Given the description of an element on the screen output the (x, y) to click on. 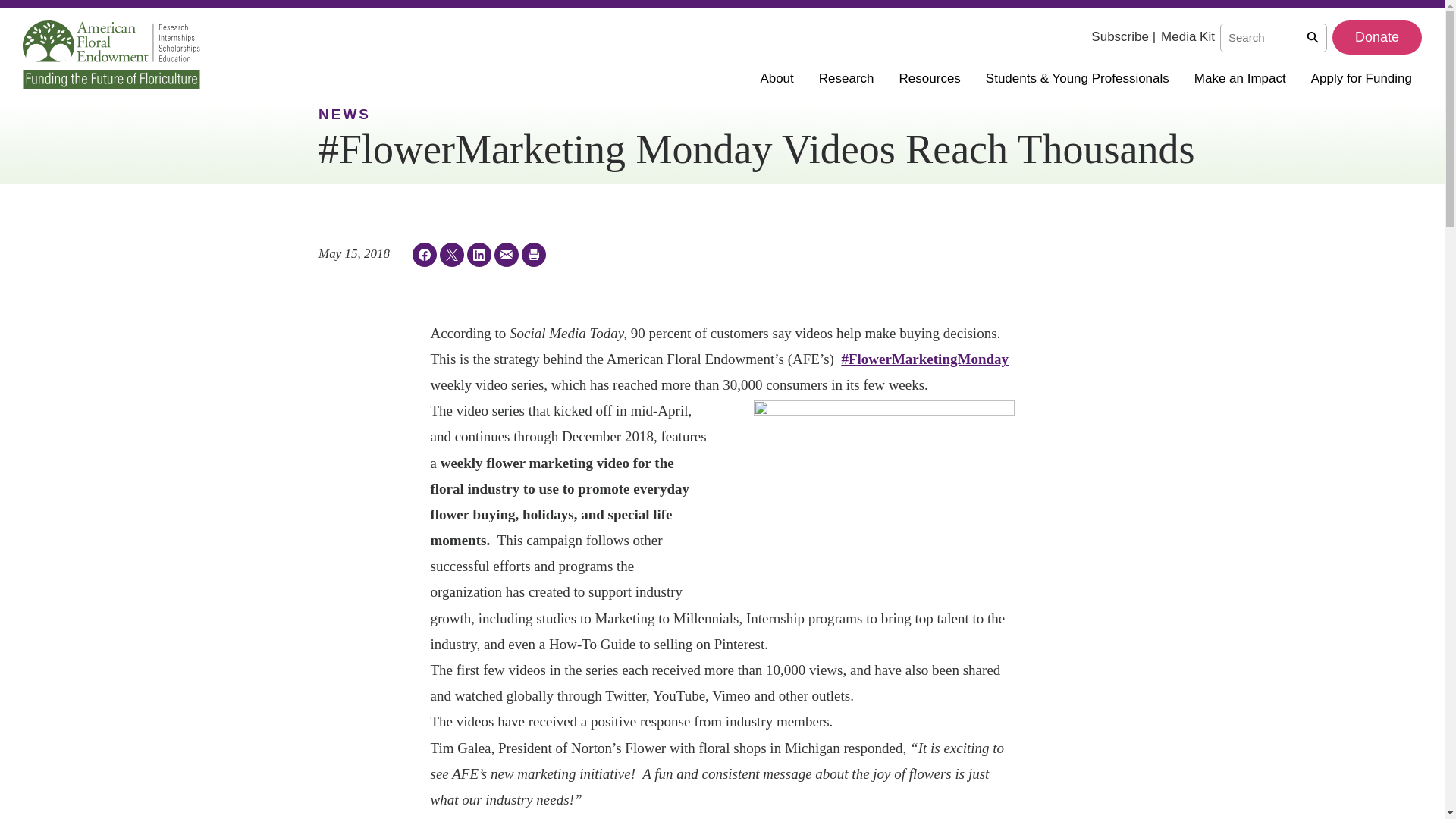
Research (850, 77)
About (781, 77)
Resources (935, 77)
Make an Impact (1244, 77)
homepage (111, 54)
